Given the description of an element on the screen output the (x, y) to click on. 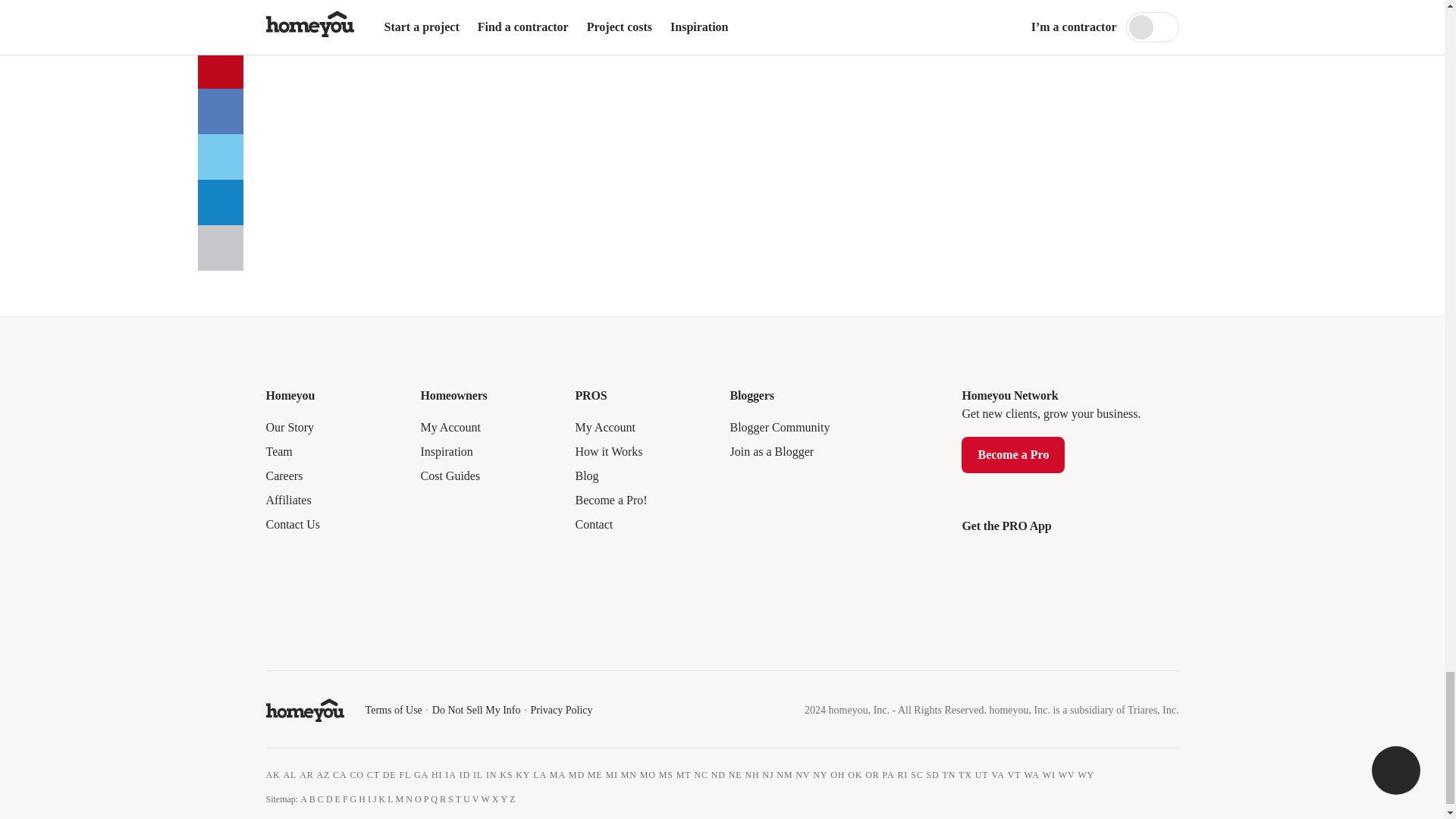
Facebook (276, 639)
Sitemap (279, 798)
Linkedin (339, 639)
Instagram (369, 639)
Twitter (308, 639)
